Given the description of an element on the screen output the (x, y) to click on. 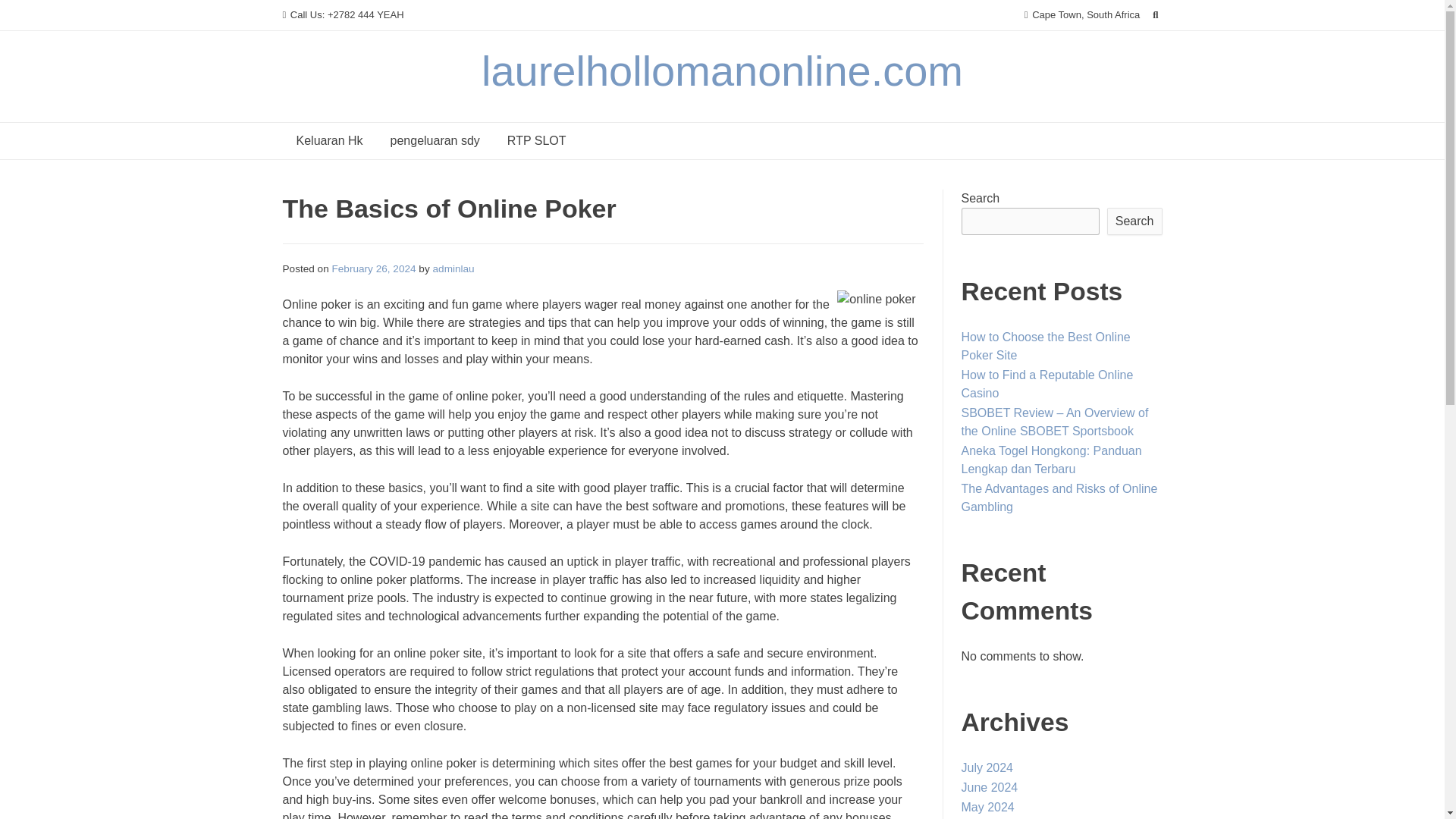
Aneka Togel Hongkong: Panduan Lengkap dan Terbaru (1050, 459)
How to Find a Reputable Online Casino (1047, 383)
Keluaran Hk (328, 140)
Search (1133, 221)
laurelhollomanonline.com (721, 70)
June 2024 (988, 787)
adminlau (453, 268)
May 2024 (987, 807)
RTP SLOT (536, 140)
Search (27, 13)
The Advantages and Risks of Online Gambling (1058, 497)
February 26, 2024 (373, 268)
How to Choose the Best Online Poker Site (1045, 345)
pengeluaran sdy (435, 140)
July 2024 (986, 767)
